Given the description of an element on the screen output the (x, y) to click on. 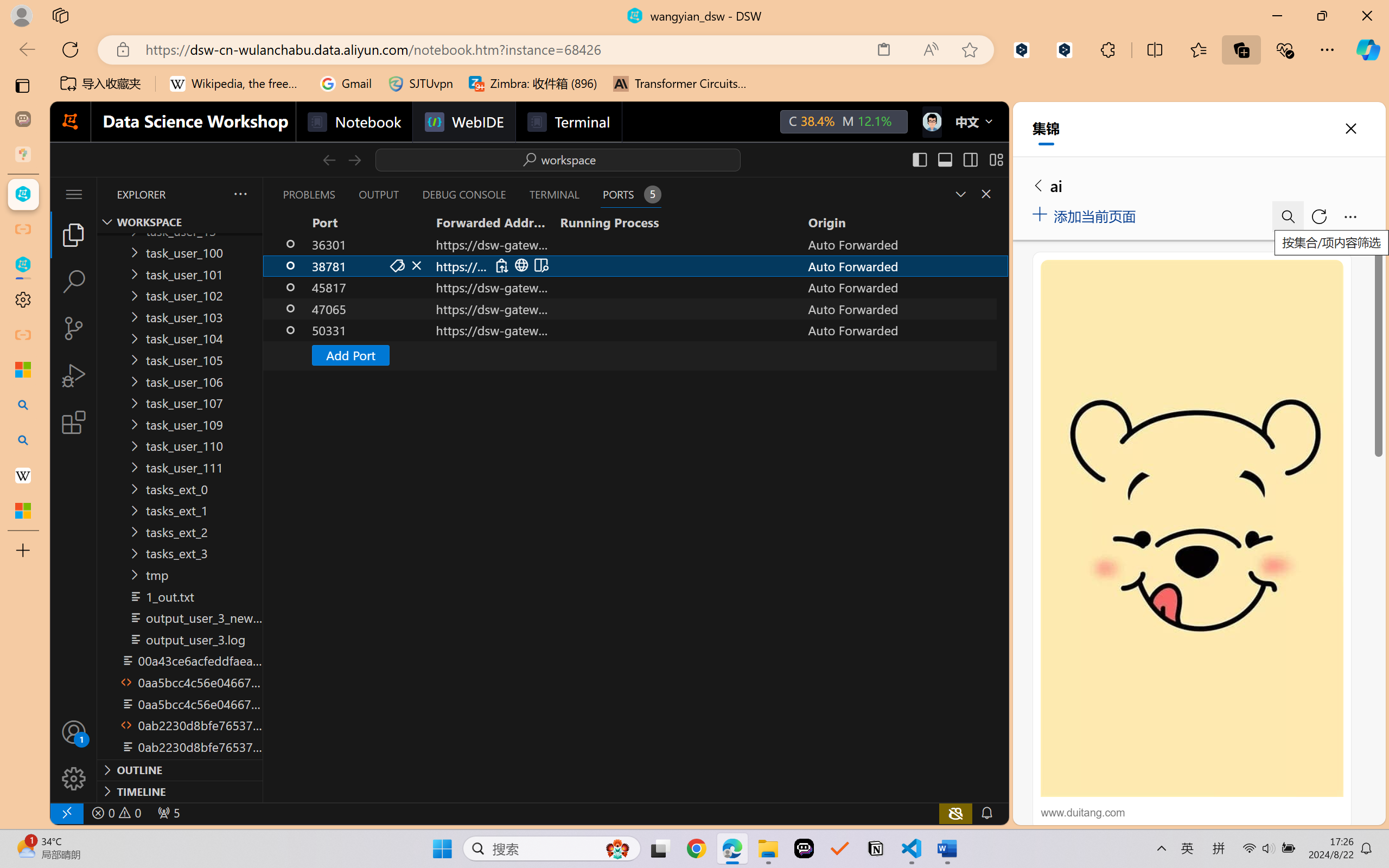
Manage (73, 755)
wangyian_webcrawler - DSW (22, 264)
Debug Console (Ctrl+Shift+Y) (463, 194)
Wikipedia, the free encyclopedia (236, 83)
Microsoft security help and learning (22, 369)
Problems (Ctrl+Shift+M) (308, 194)
Manage (73, 778)
SJTUvpn (419, 83)
Terminal (Ctrl+`) (553, 194)
